Given the description of an element on the screen output the (x, y) to click on. 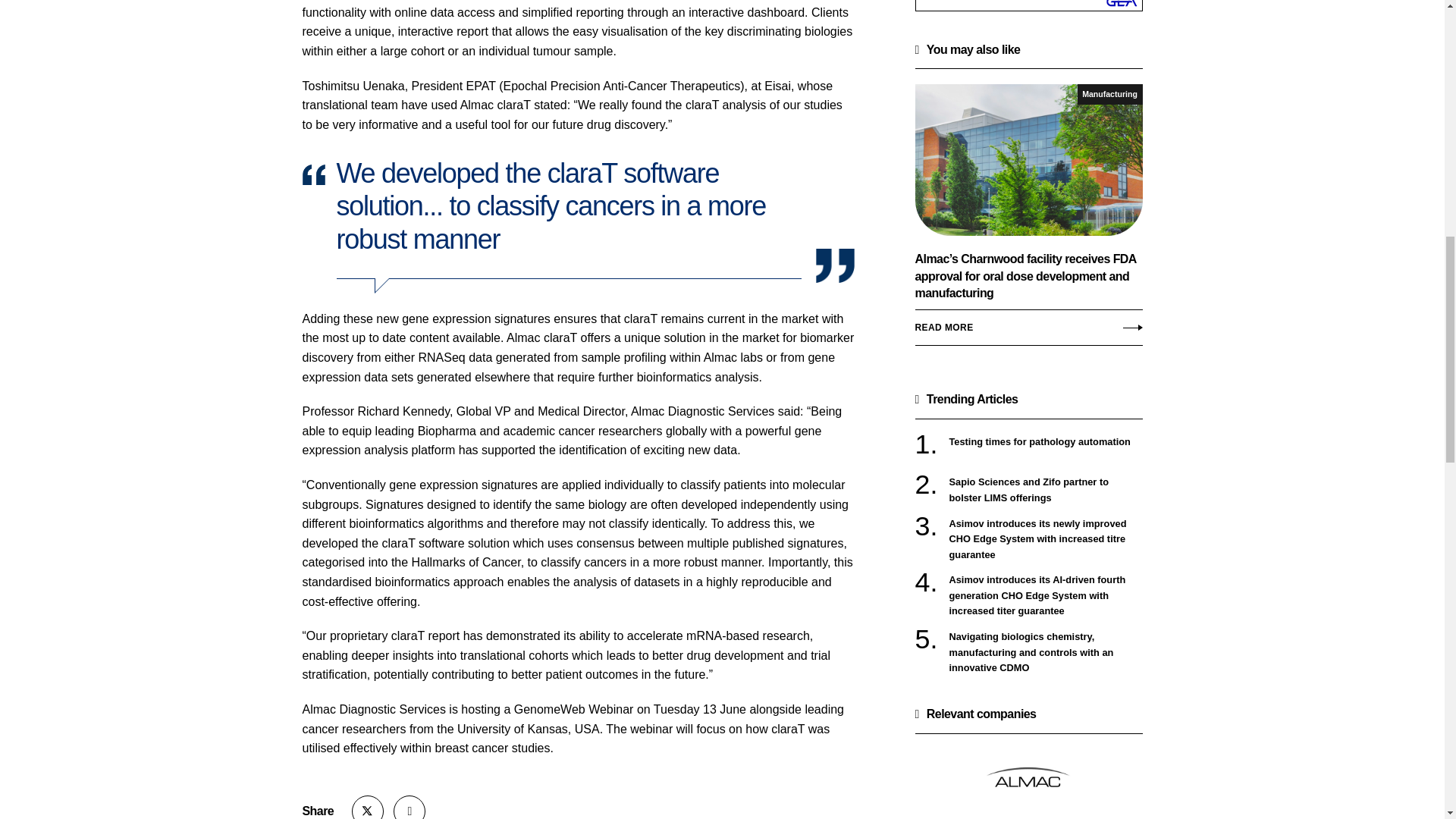
Testing times for pathology automation (1045, 441)
Follow Manufacturing Chemist on X (368, 807)
Manufacturing (1109, 94)
Follow Manufacturing Chemist on LinkedIn (409, 807)
X (368, 807)
LinkedIn (409, 807)
Almac Group (1028, 779)
Sapio Sciences and Zifo partner to bolster LIMS offerings (1045, 490)
